Given the description of an element on the screen output the (x, y) to click on. 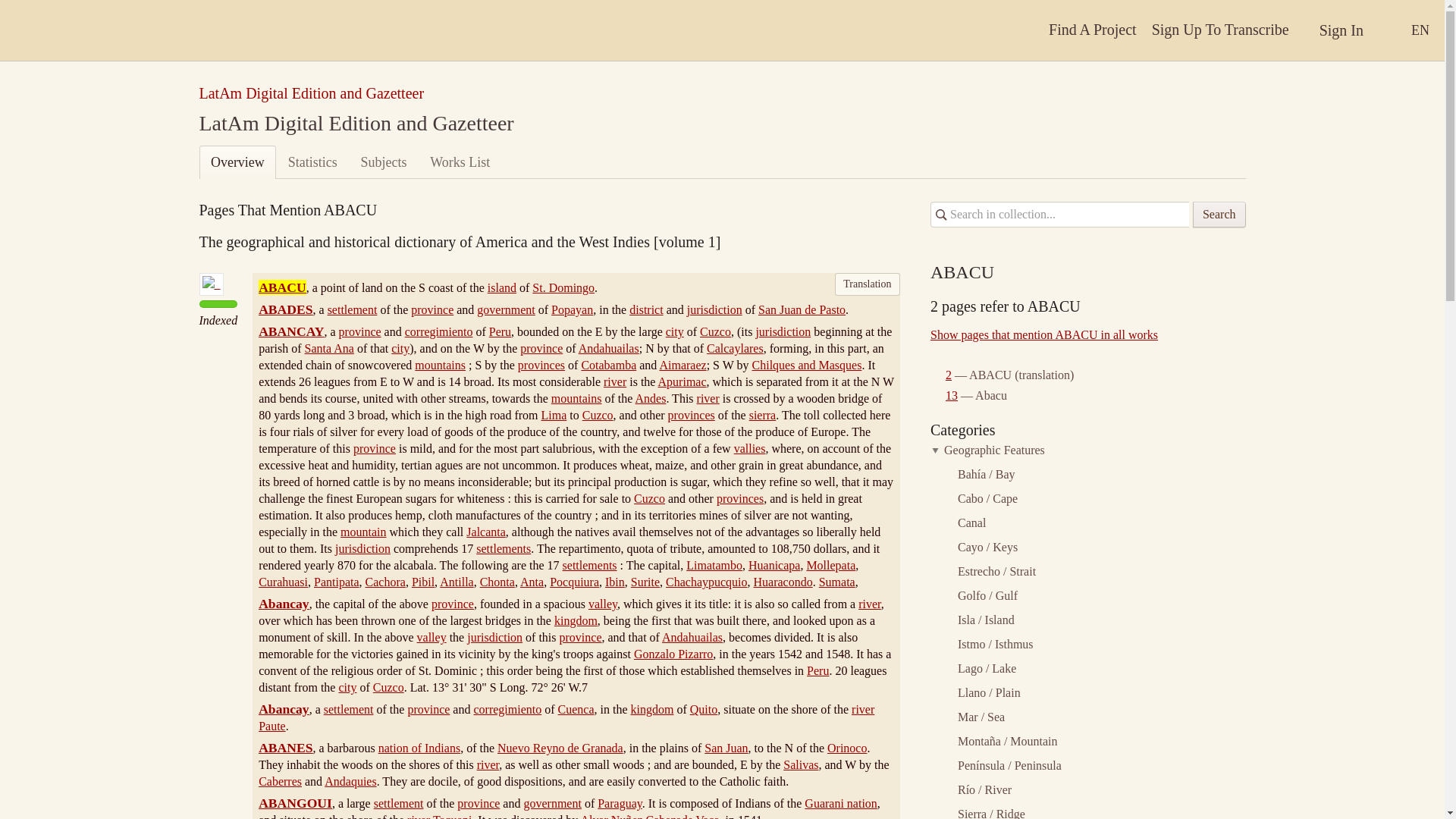
ABADES (286, 309)
St. Domingo (563, 287)
Santa Ana (328, 348)
ABACU (282, 287)
Find A Project (1092, 29)
city (674, 331)
Cuzco (715, 331)
San Juan de Pasto (801, 309)
Calcaylares (734, 348)
provinces (541, 364)
